Given the description of an element on the screen output the (x, y) to click on. 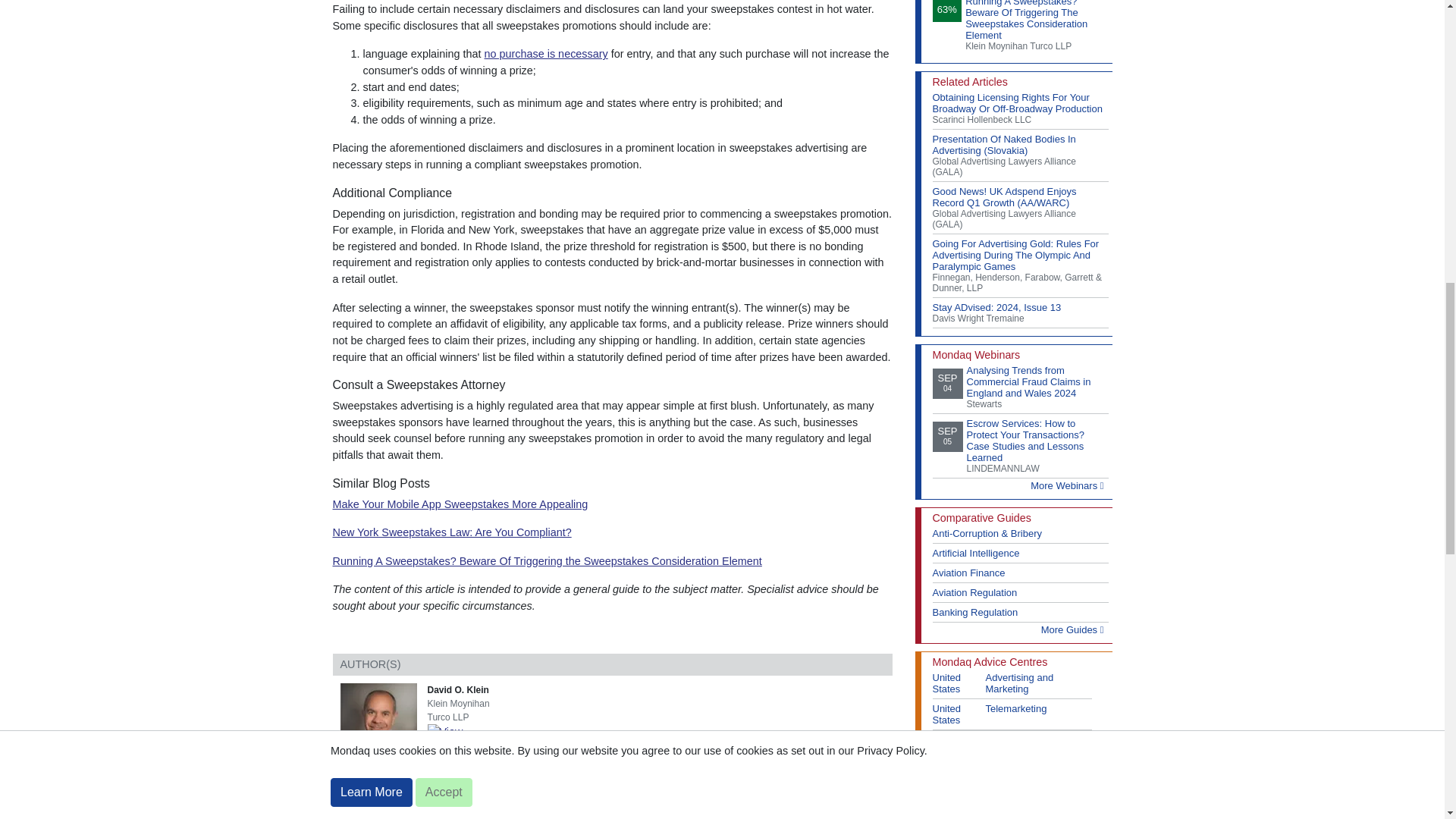
View this authors biography on their website (381, 720)
More from David O.  Klein (469, 756)
